Given the description of an element on the screen output the (x, y) to click on. 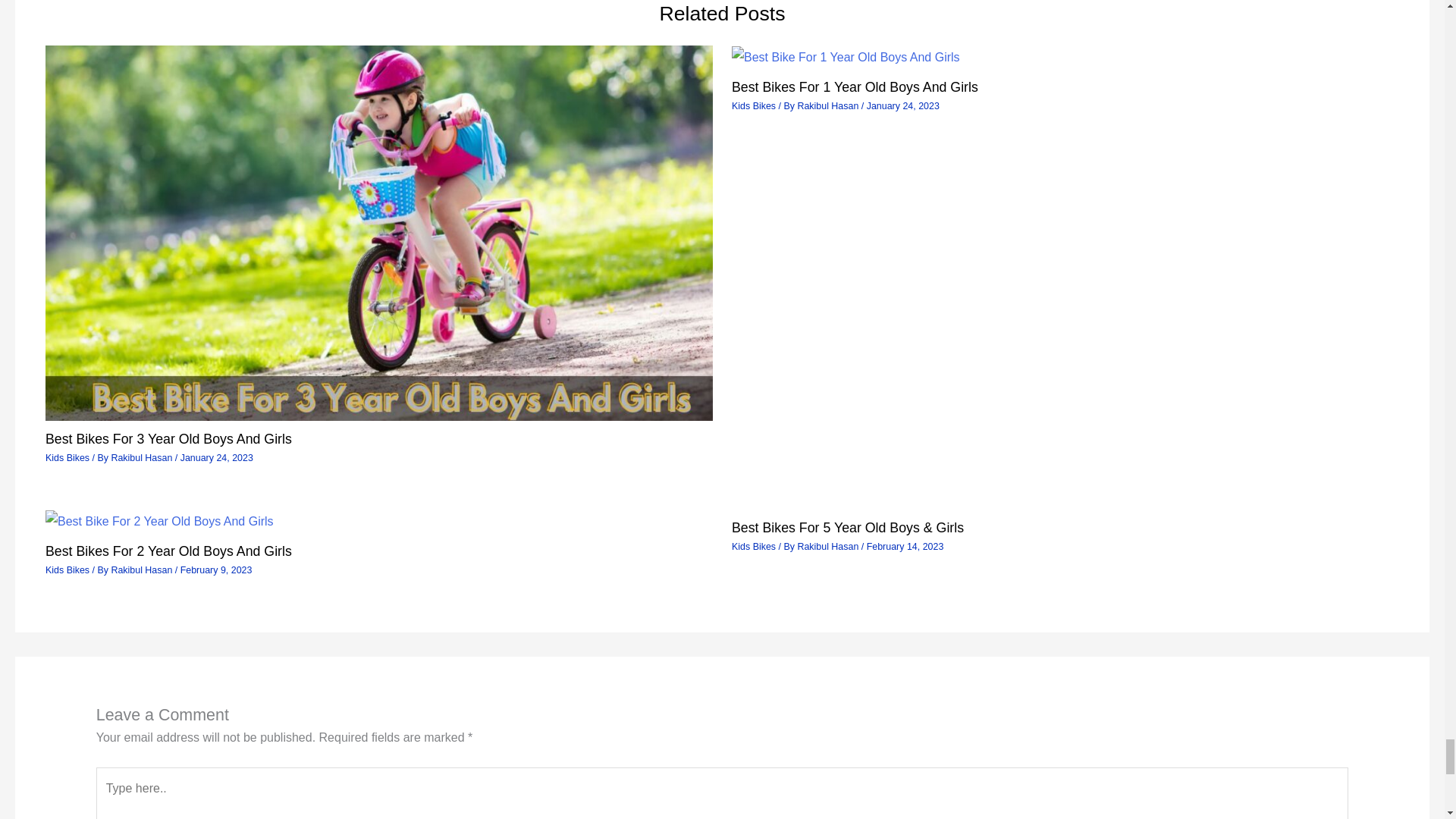
View all posts by Rakibul Hasan (828, 105)
View all posts by Rakibul Hasan (828, 546)
View all posts by Rakibul Hasan (142, 570)
View all posts by Rakibul Hasan (142, 457)
